Given the description of an element on the screen output the (x, y) to click on. 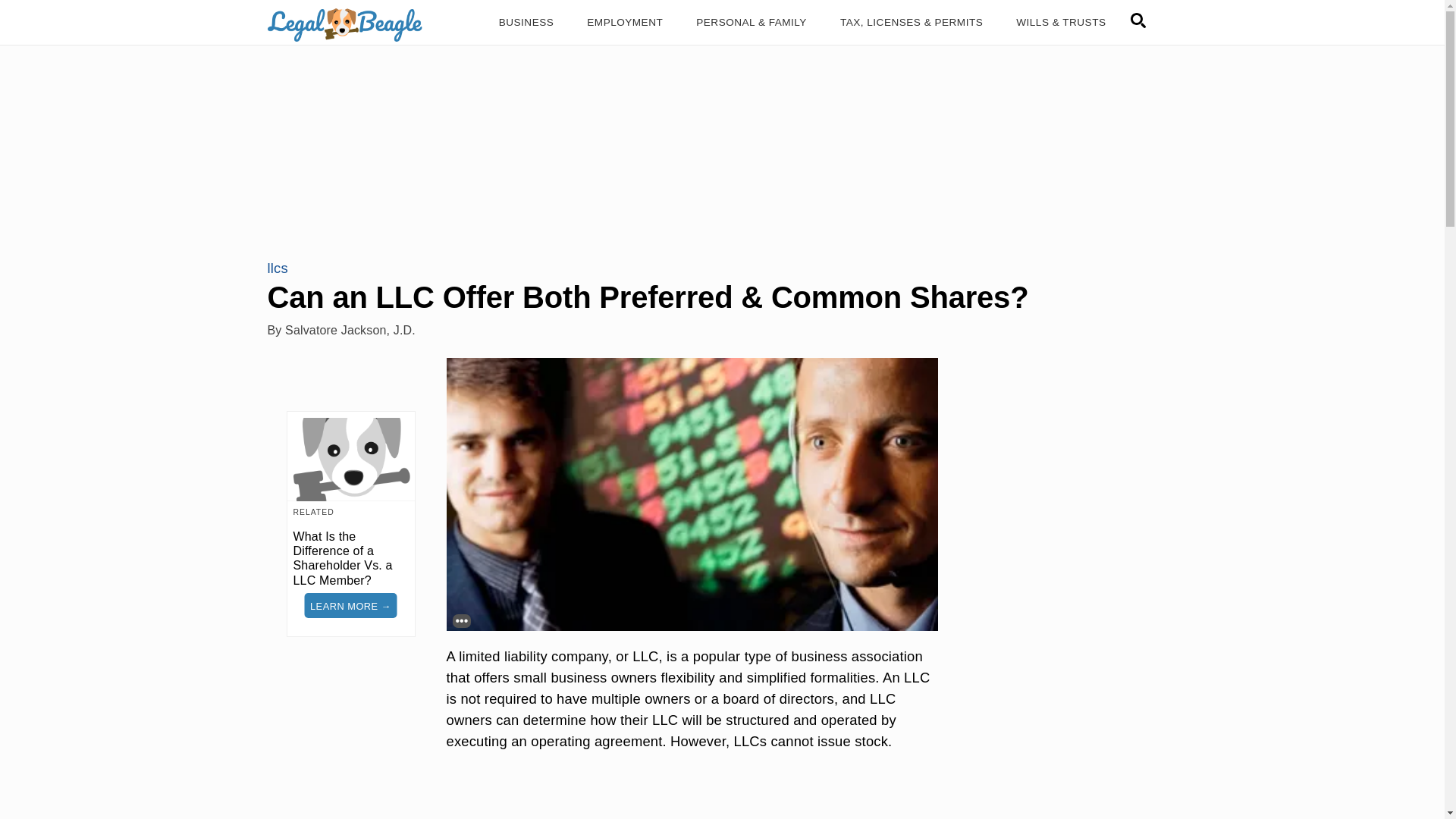
BUSINESS (526, 22)
Advertisement (691, 797)
EMPLOYMENT (624, 22)
